Given the description of an element on the screen output the (x, y) to click on. 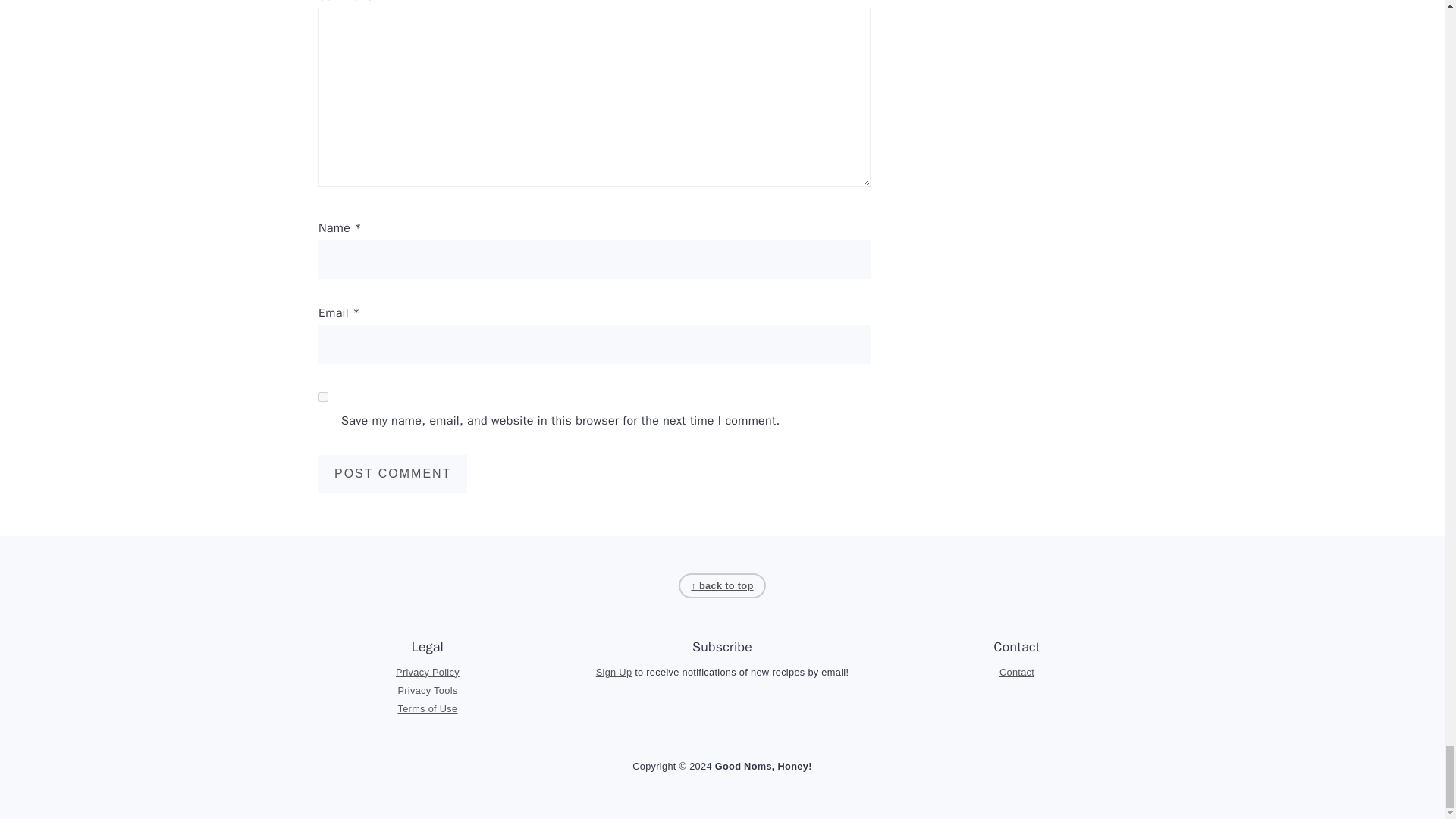
yes (323, 397)
Post Comment (392, 474)
